Given the description of an element on the screen output the (x, y) to click on. 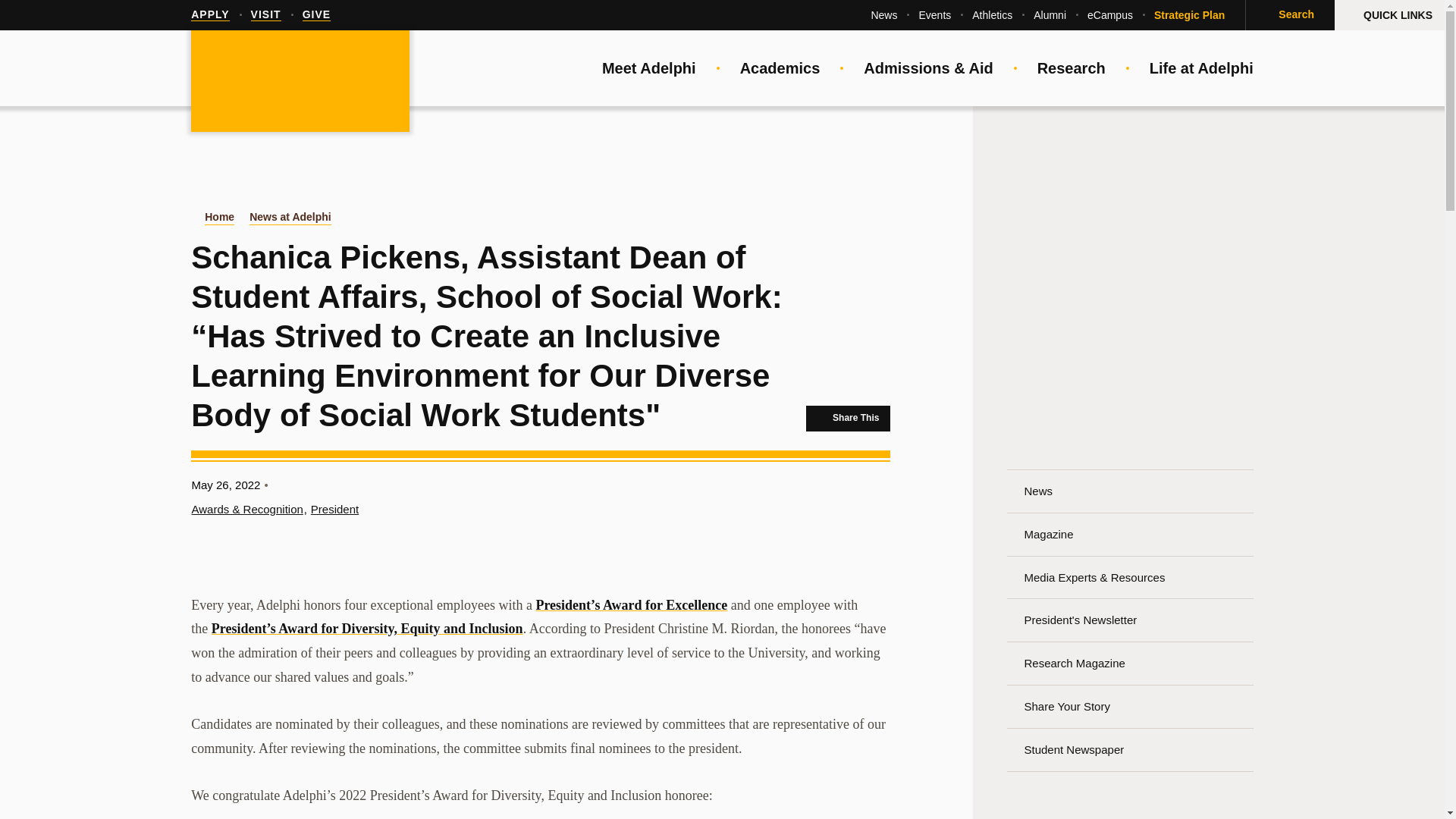
Search (1289, 15)
Academics (780, 68)
Events (934, 15)
Adelphi University (299, 82)
APPLY (209, 15)
GIVE (316, 15)
Athletics (991, 15)
VISIT (265, 15)
Strategic Plan (1189, 15)
Meet Adelphi (648, 68)
Alumni (1049, 15)
eCampus (1109, 15)
News (883, 15)
